Given the description of an element on the screen output the (x, y) to click on. 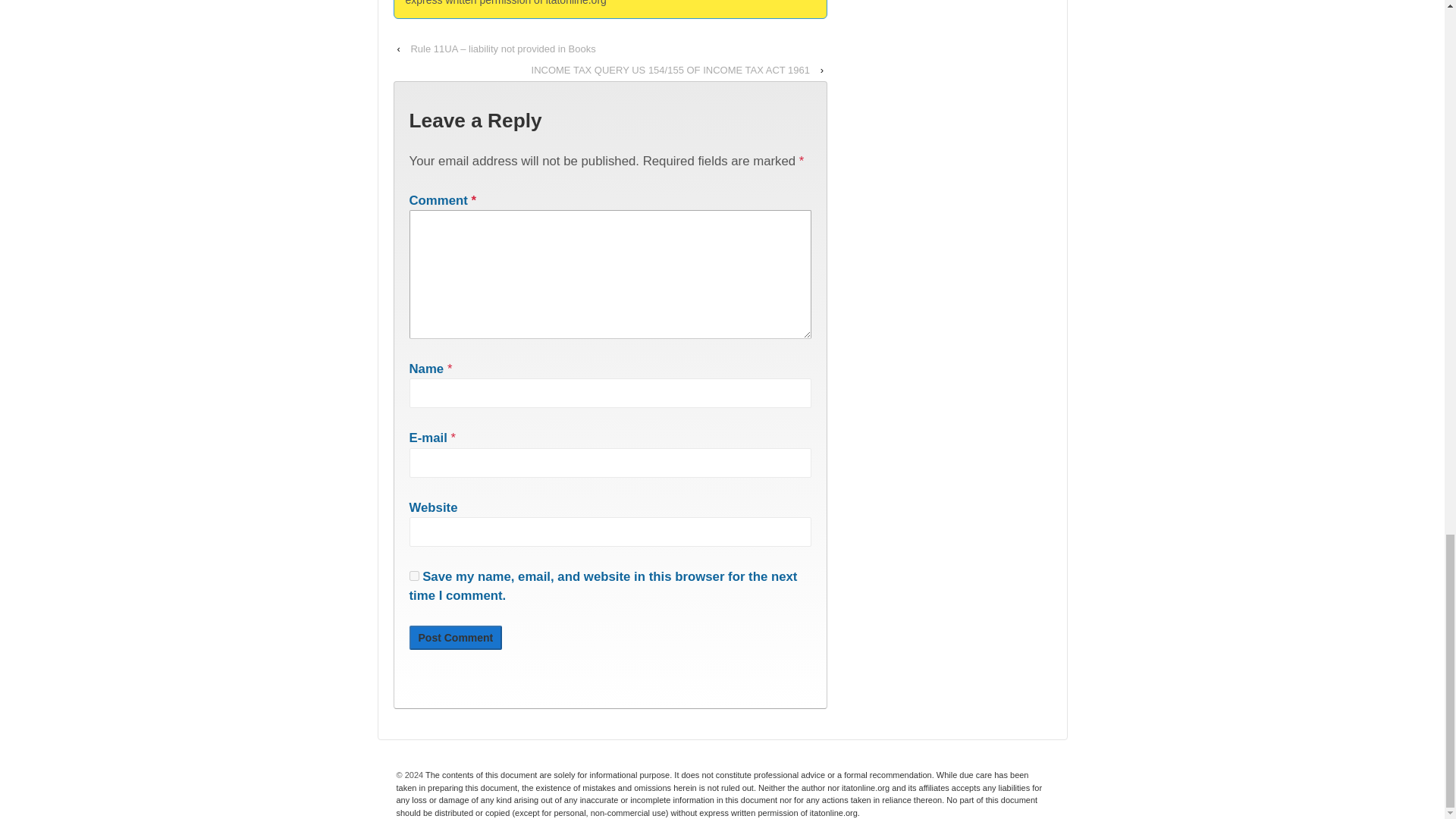
yes (414, 575)
Post Comment (455, 637)
Digest of case laws (719, 793)
Post Comment (455, 637)
